Given the description of an element on the screen output the (x, y) to click on. 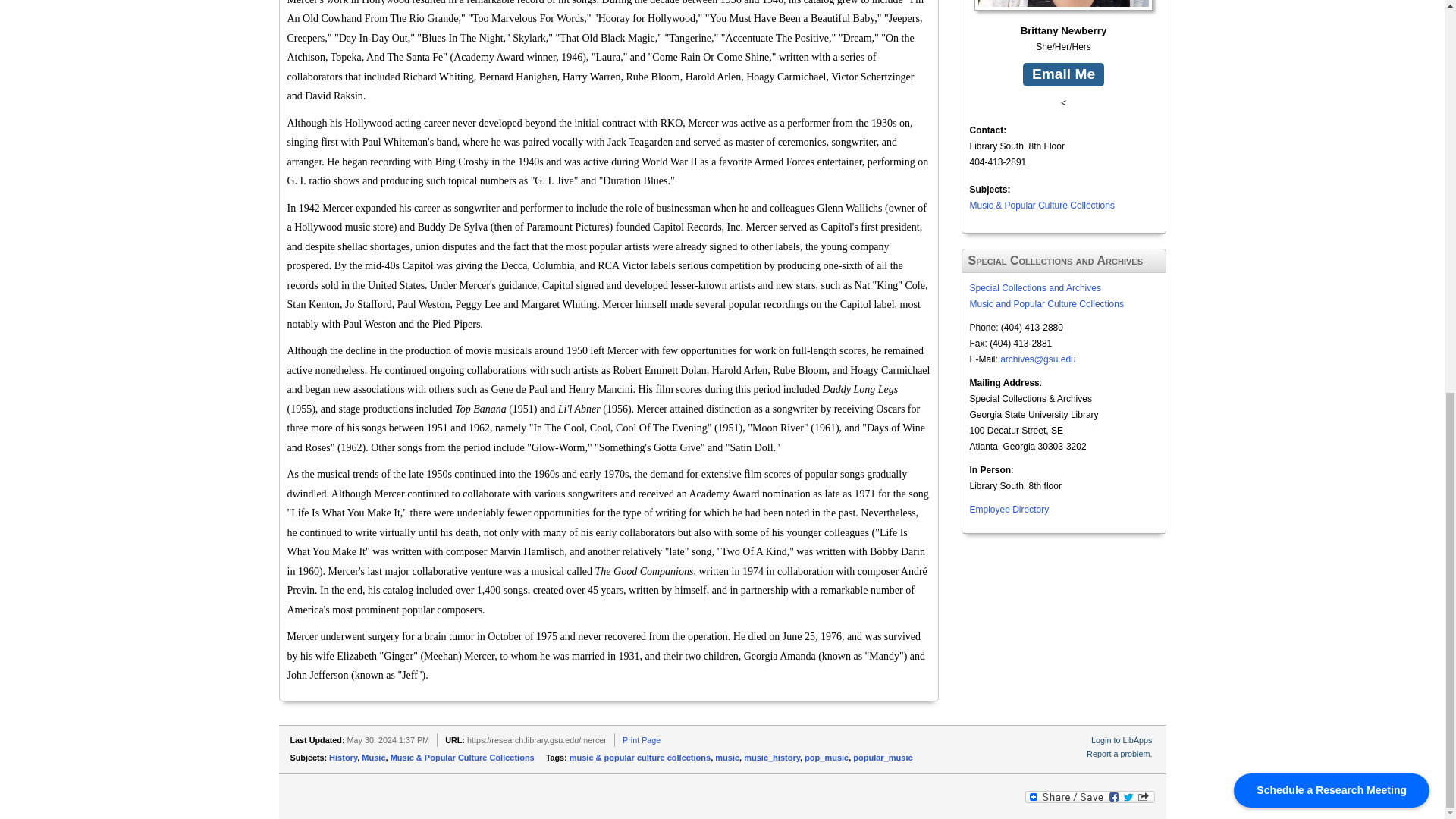
Music and Popular Culture Collections (1045, 303)
music (726, 757)
Print Page (642, 739)
Special Collections and Archives (1034, 287)
Employee Directory (1008, 509)
Report a problem. (1118, 753)
Music (373, 757)
History (342, 757)
Email Me (1063, 74)
Login to LibApps (1120, 739)
Brittany Newberry (1063, 19)
